Given the description of an element on the screen output the (x, y) to click on. 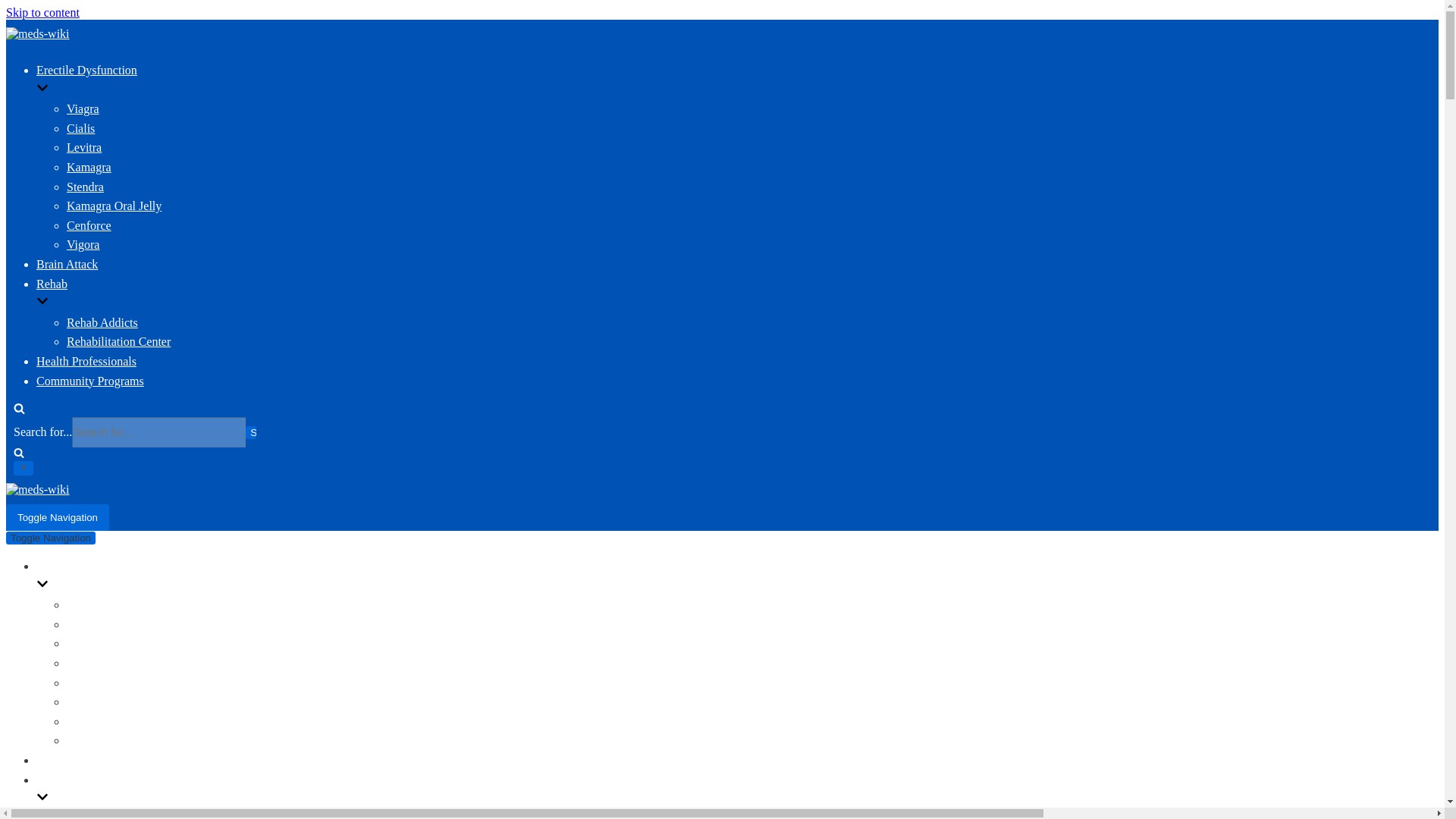
Rehab Addicts (102, 815)
Viagra (82, 108)
Kamagra (89, 166)
Toggle Navigation (50, 537)
Cialis (80, 624)
Community Programs (90, 380)
Meds.wiki (37, 489)
Erectile Dysfunction (149, 577)
Cenforce (89, 721)
Brain Attack (66, 759)
Toggle Navigation (57, 517)
Stendra (84, 682)
Stendra (84, 186)
Kamagra Oral Jelly (113, 205)
Erectile Dysfunction (456, 81)
